Given the description of an element on the screen output the (x, y) to click on. 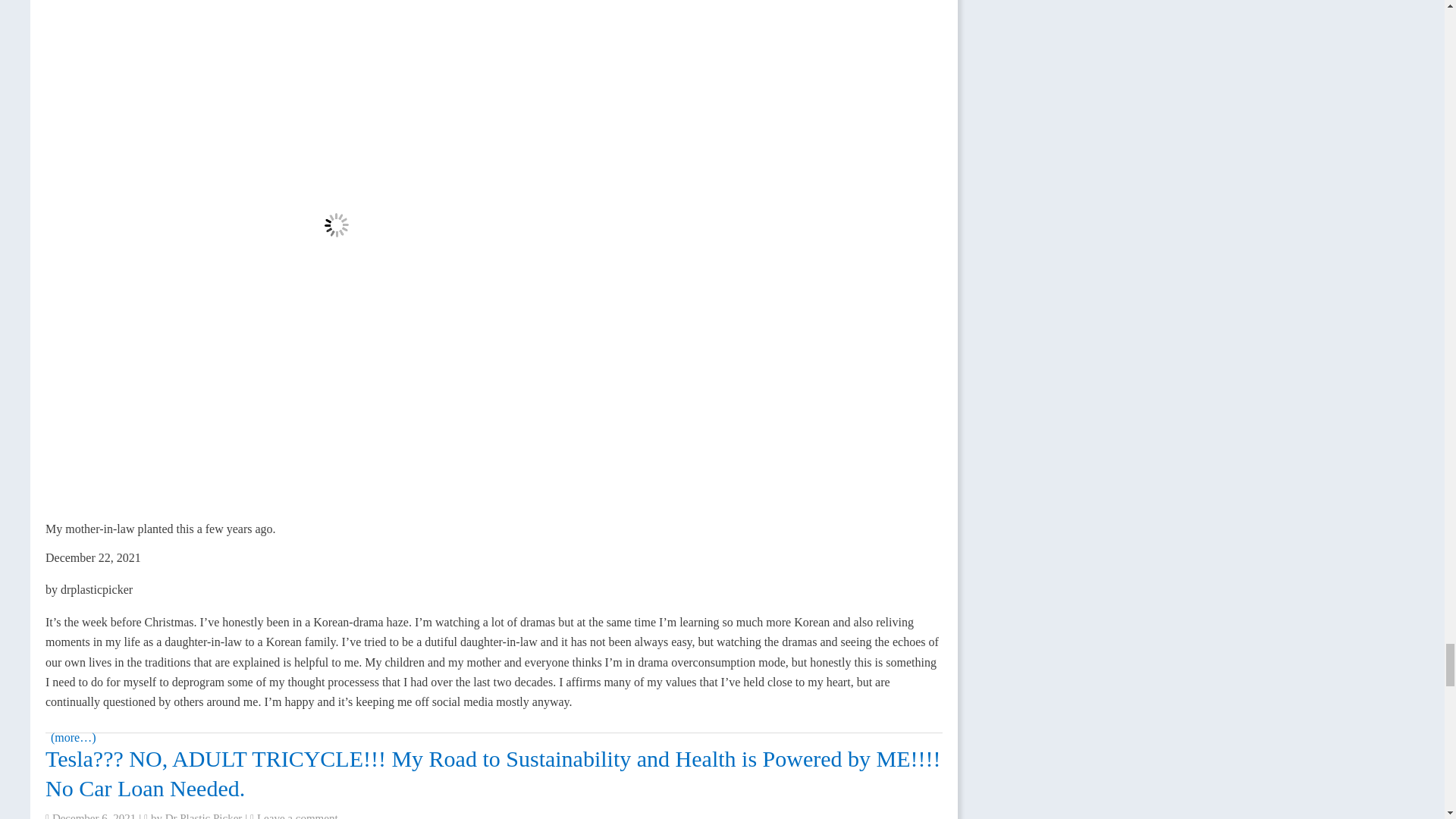
Dr Plastic Picker (204, 815)
